Given the description of an element on the screen output the (x, y) to click on. 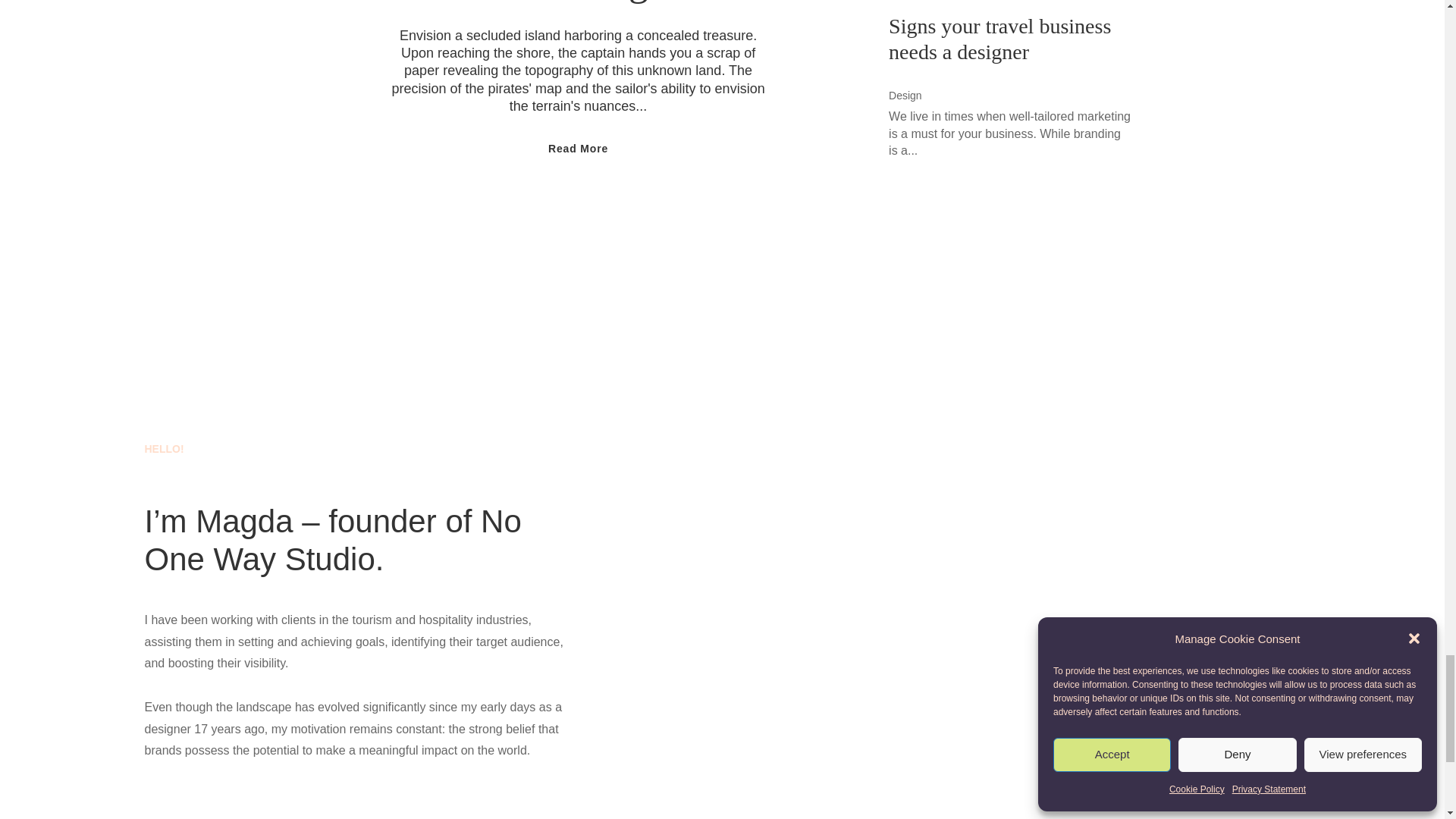
Signs your travel business needs a designer (999, 38)
Design (904, 95)
Read More (577, 193)
